Given the description of an element on the screen output the (x, y) to click on. 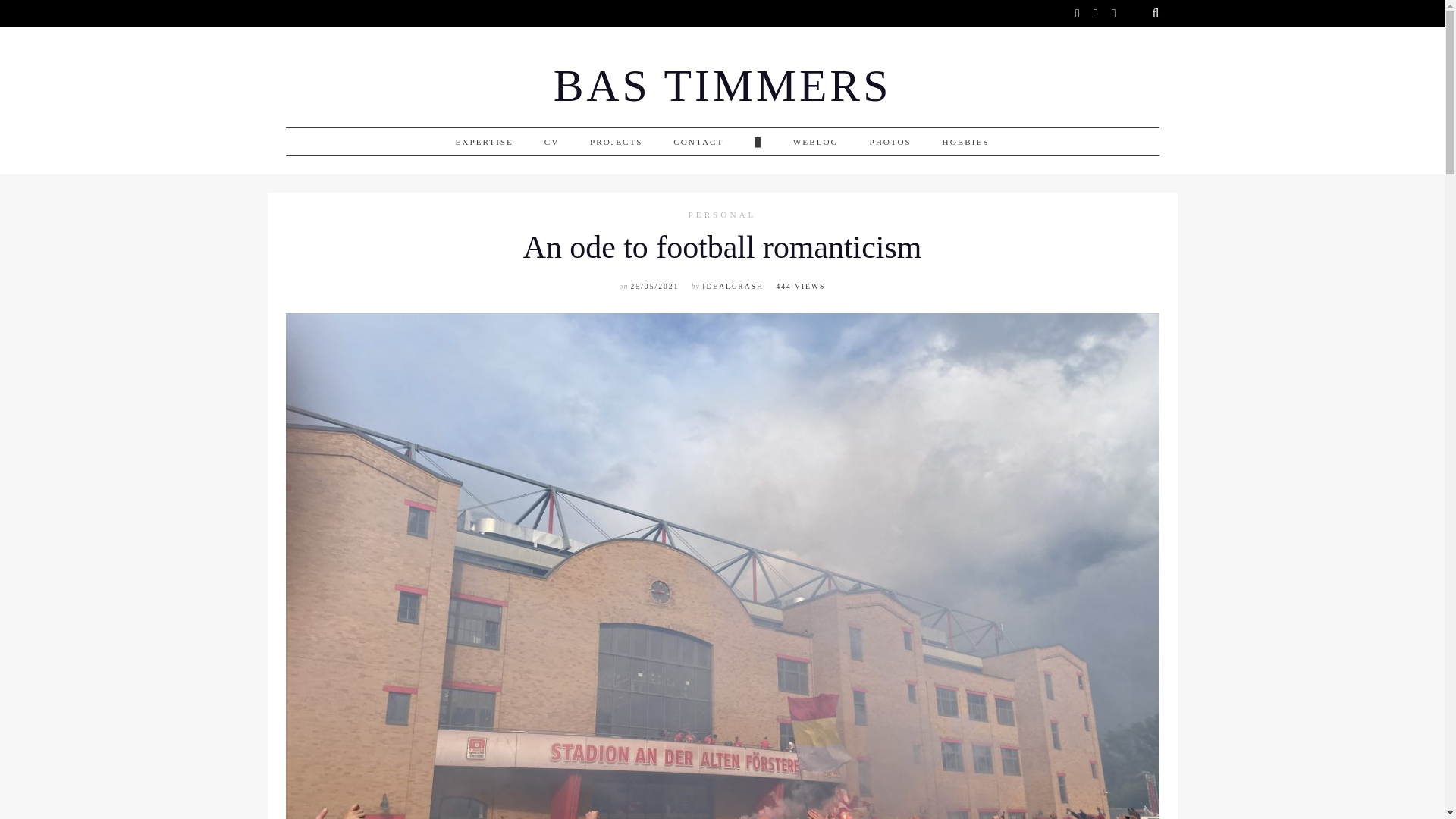
EXPERTISE (484, 141)
IDEALCRASH (731, 285)
CONTACT (697, 141)
BAS TIMMERS (722, 85)
PHOTOS (890, 141)
WEBLOG (815, 141)
PERSONAL (722, 215)
PROJECTS (615, 141)
HOBBIES (966, 141)
